Given the description of an element on the screen output the (x, y) to click on. 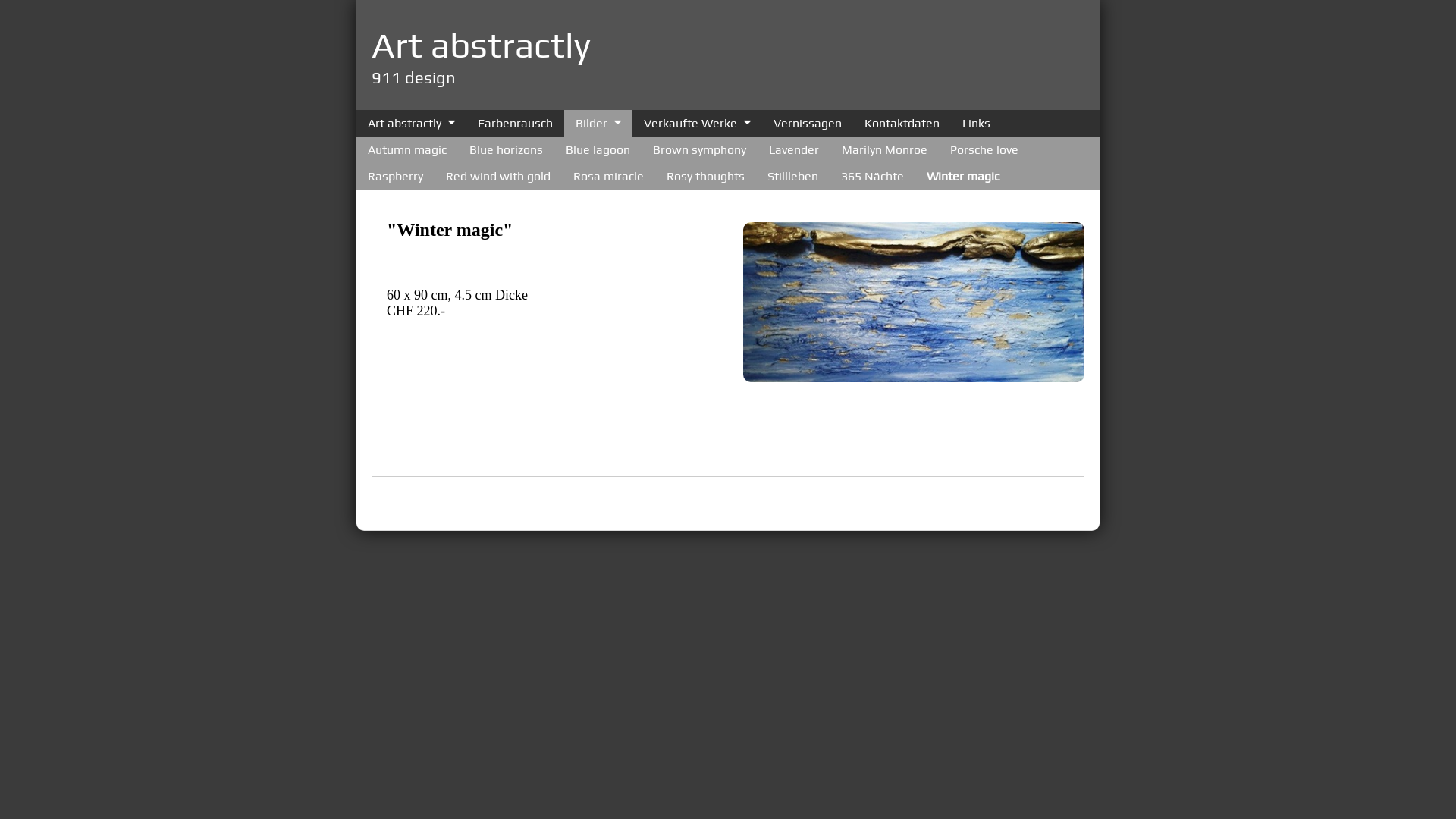
Bilder Element type: text (587, 122)
Links Element type: text (975, 122)
Blue horizons Element type: text (506, 149)
Stillleben Element type: text (792, 176)
Verkaufte Werke Element type: text (686, 122)
Art abstractly Element type: text (400, 122)
Rosy thoughts Element type: text (705, 176)
Red wind with gold Element type: text (497, 176)
Rosa miracle Element type: text (608, 176)
Art abstractly Element type: text (480, 44)
Winter magic Element type: text (962, 176)
Blue lagoon Element type: text (597, 149)
Autumn magic Element type: text (407, 149)
Vernissagen Element type: text (807, 122)
Farbenrausch Element type: text (515, 122)
Raspberry Element type: text (395, 176)
Lavender Element type: text (793, 149)
Brown symphony Element type: text (699, 149)
Marilyn Monroe Element type: text (884, 149)
Porsche love Element type: text (983, 149)
Kontaktdaten Element type: text (901, 122)
